Given the description of an element on the screen output the (x, y) to click on. 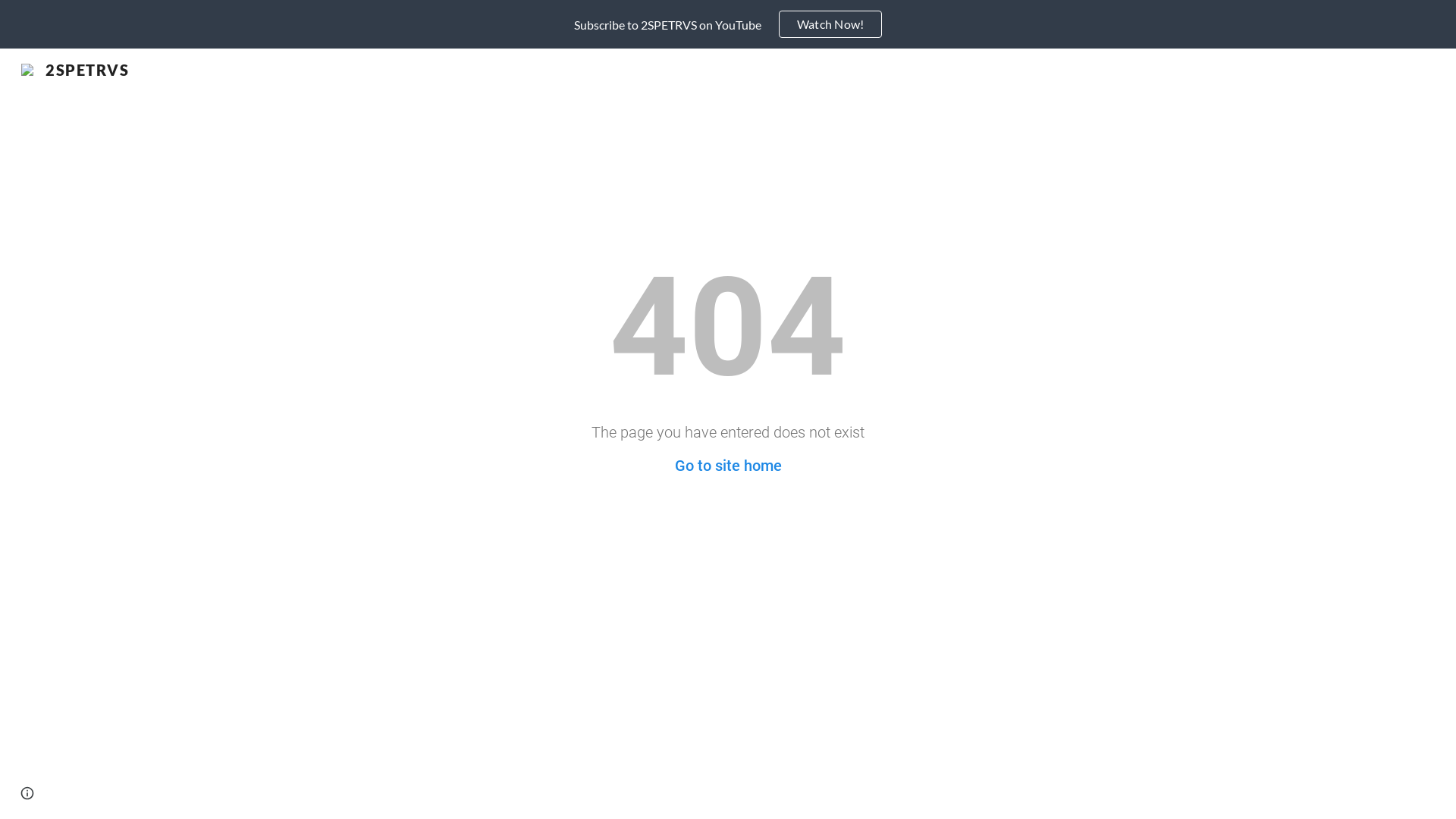
2SPETRVS Element type: text (75, 67)
Go to site home Element type: text (727, 465)
Watch Now! Element type: text (830, 24)
